Given the description of an element on the screen output the (x, y) to click on. 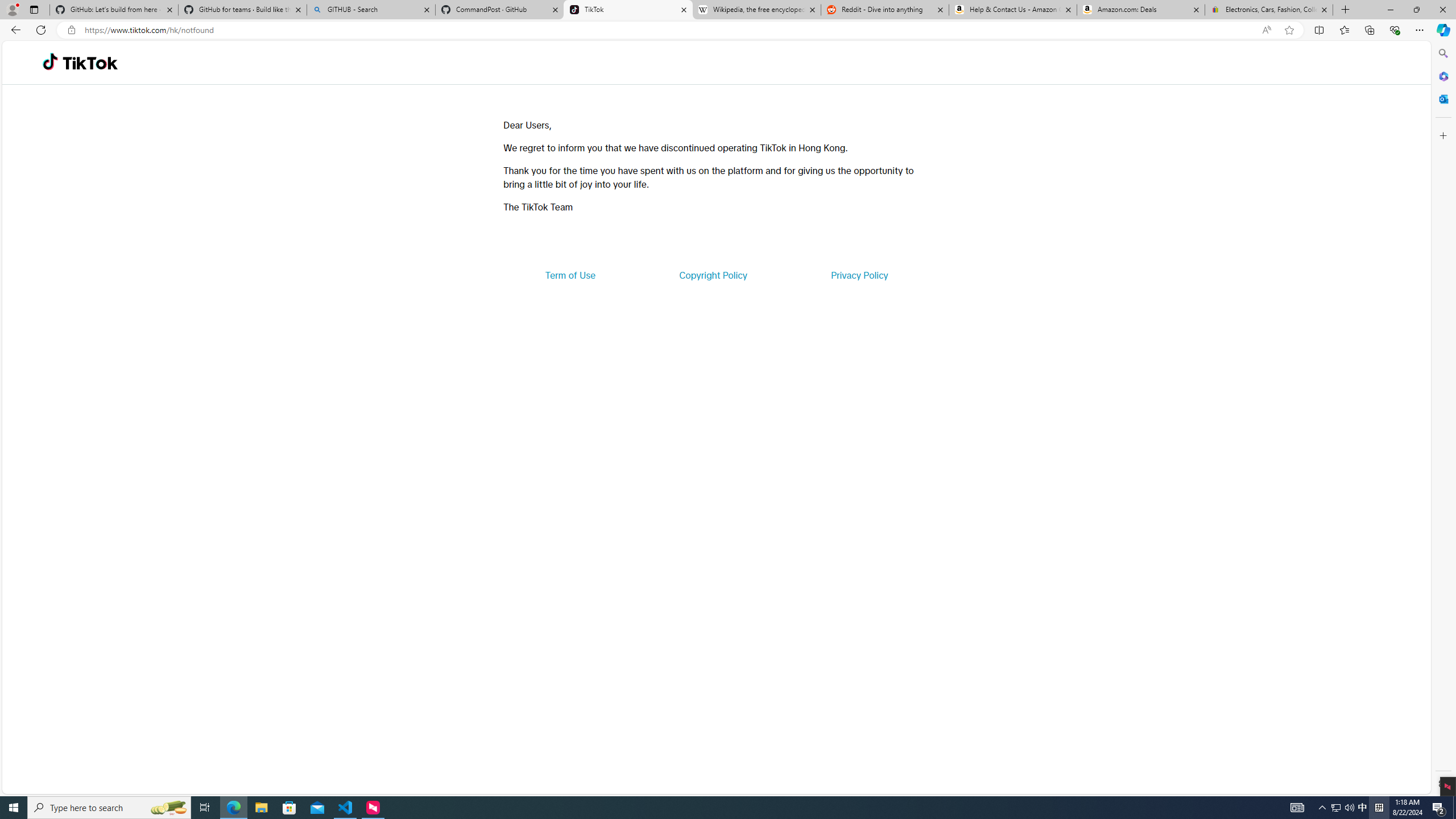
Privacy Policy (858, 274)
Amazon.com: Deals (1140, 9)
